Given the description of an element on the screen output the (x, y) to click on. 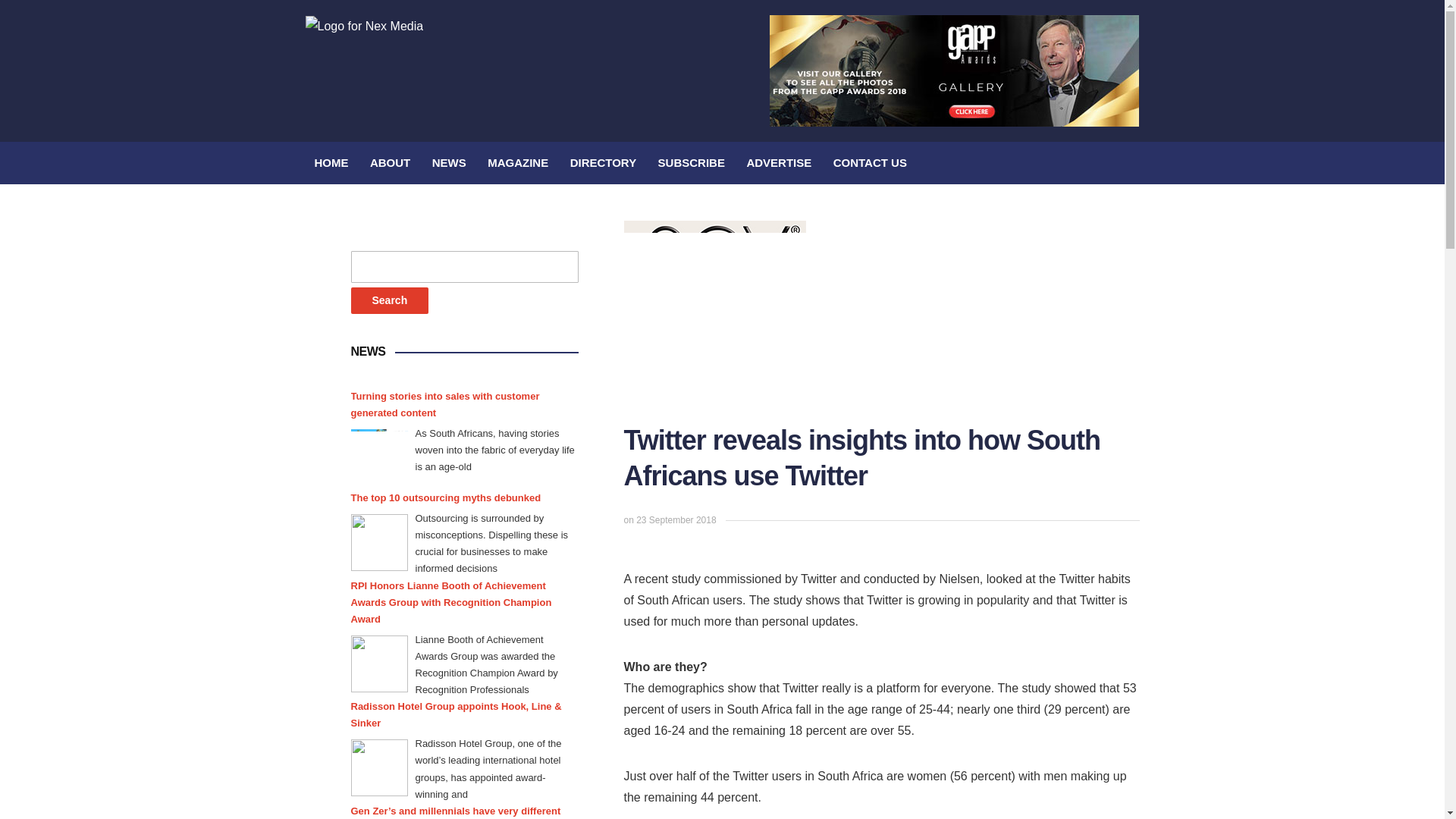
SUBSCRIBE (691, 162)
MAGAZINE (518, 162)
Search (389, 300)
ADVERTISE (778, 162)
DIRECTORY (604, 162)
Turning stories into sales with customer generated content (464, 404)
Turning stories into sales with customer generated content (378, 457)
The top 10 outsourcing myths debunked (445, 497)
Search (389, 300)
